Given the description of an element on the screen output the (x, y) to click on. 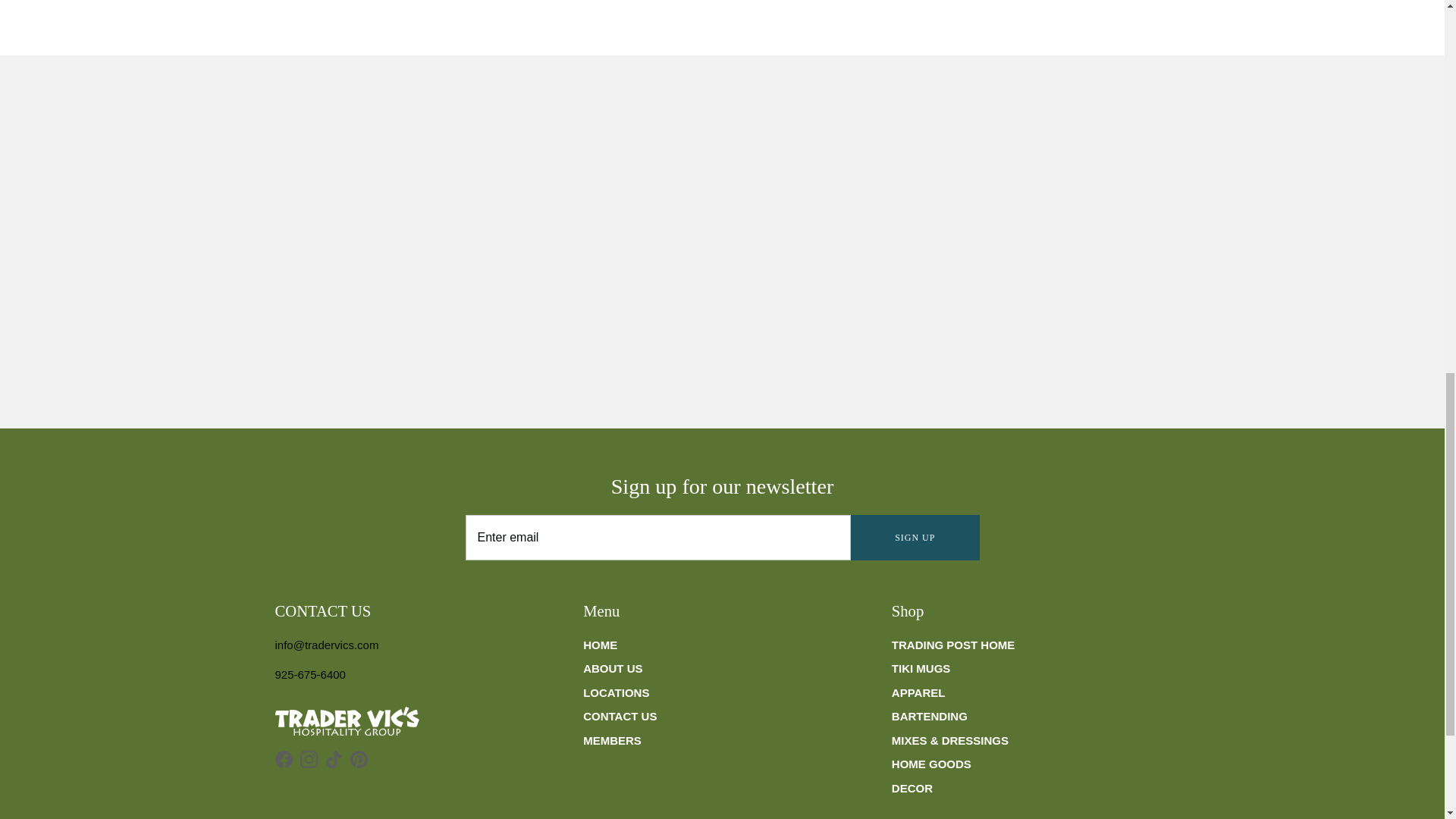
Trader Vic's on Pinterest (359, 759)
Trader Vic's on TikTok (333, 759)
Trader Vic's on Instagram (308, 759)
Trader Vic's on Facebook (283, 759)
